Given the description of an element on the screen output the (x, y) to click on. 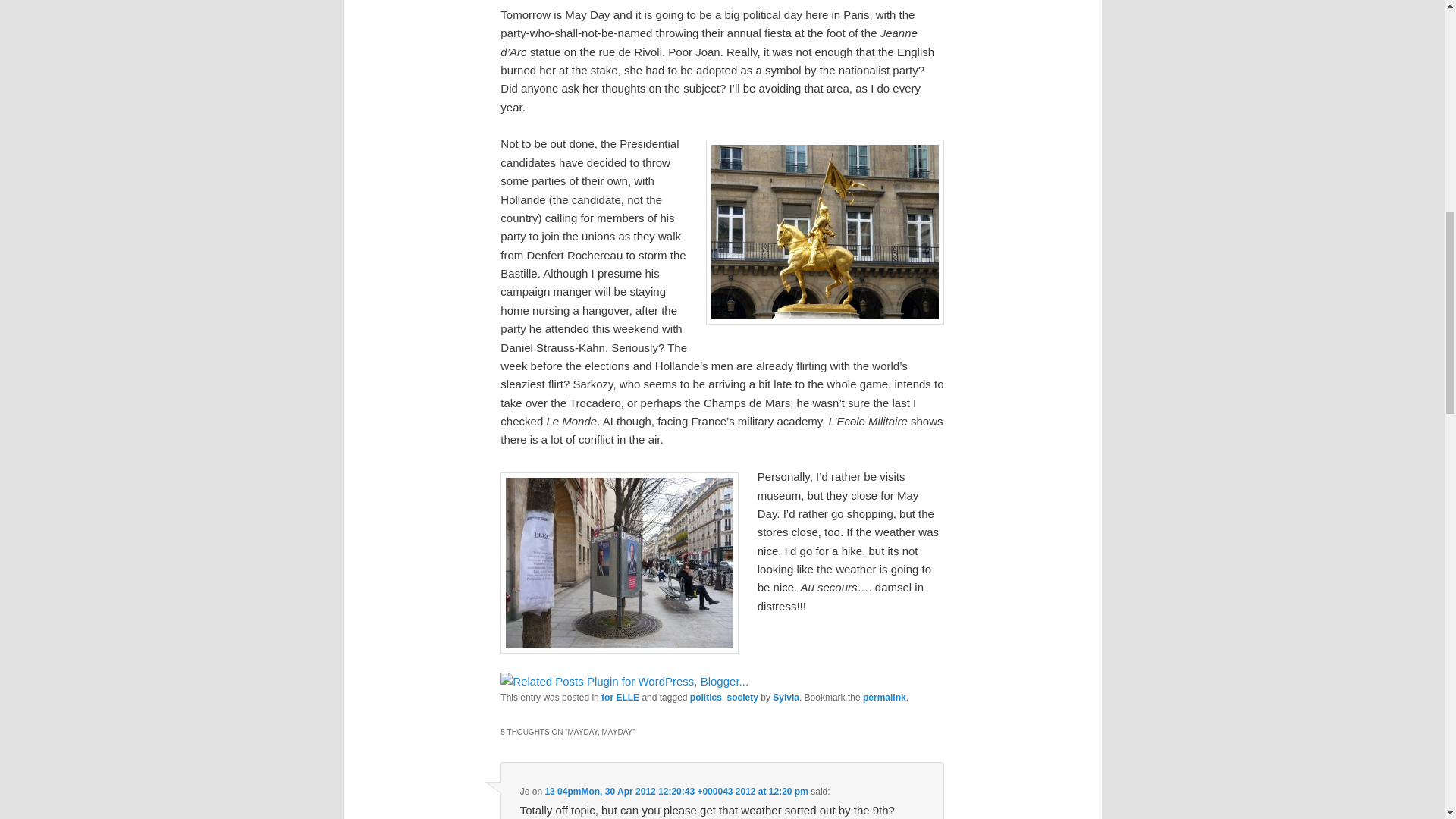
Jeanne d'Arc (824, 231)
Sylvia (786, 697)
permalink (884, 697)
politics (706, 697)
society (742, 697)
Permalink to Mayday, mayday (884, 697)
for ELLE (620, 697)
Elections are coming (619, 562)
